Given the description of an element on the screen output the (x, y) to click on. 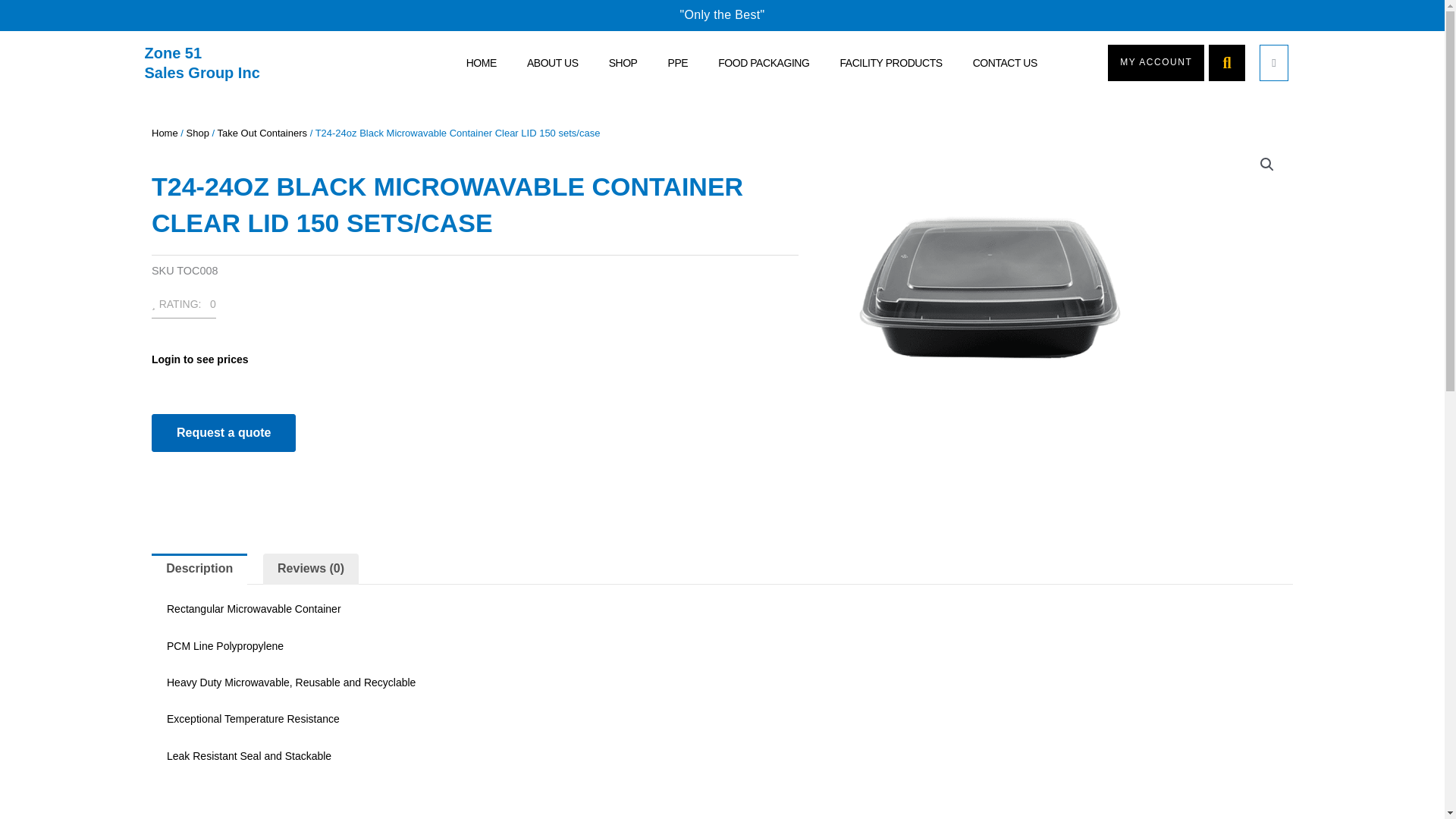
t48 container lid (983, 286)
FOOD PACKAGING (763, 62)
ABOUT US (552, 62)
FACILITY PRODUCTS (890, 62)
MY ACCOUNT (201, 63)
Home (1156, 63)
HOME (481, 62)
SHOP (481, 62)
PPE (622, 62)
RATING:   0 (678, 62)
Take Out Containers (183, 308)
CONTACT US (261, 132)
Home (1004, 62)
Shop (164, 132)
